Given the description of an element on the screen output the (x, y) to click on. 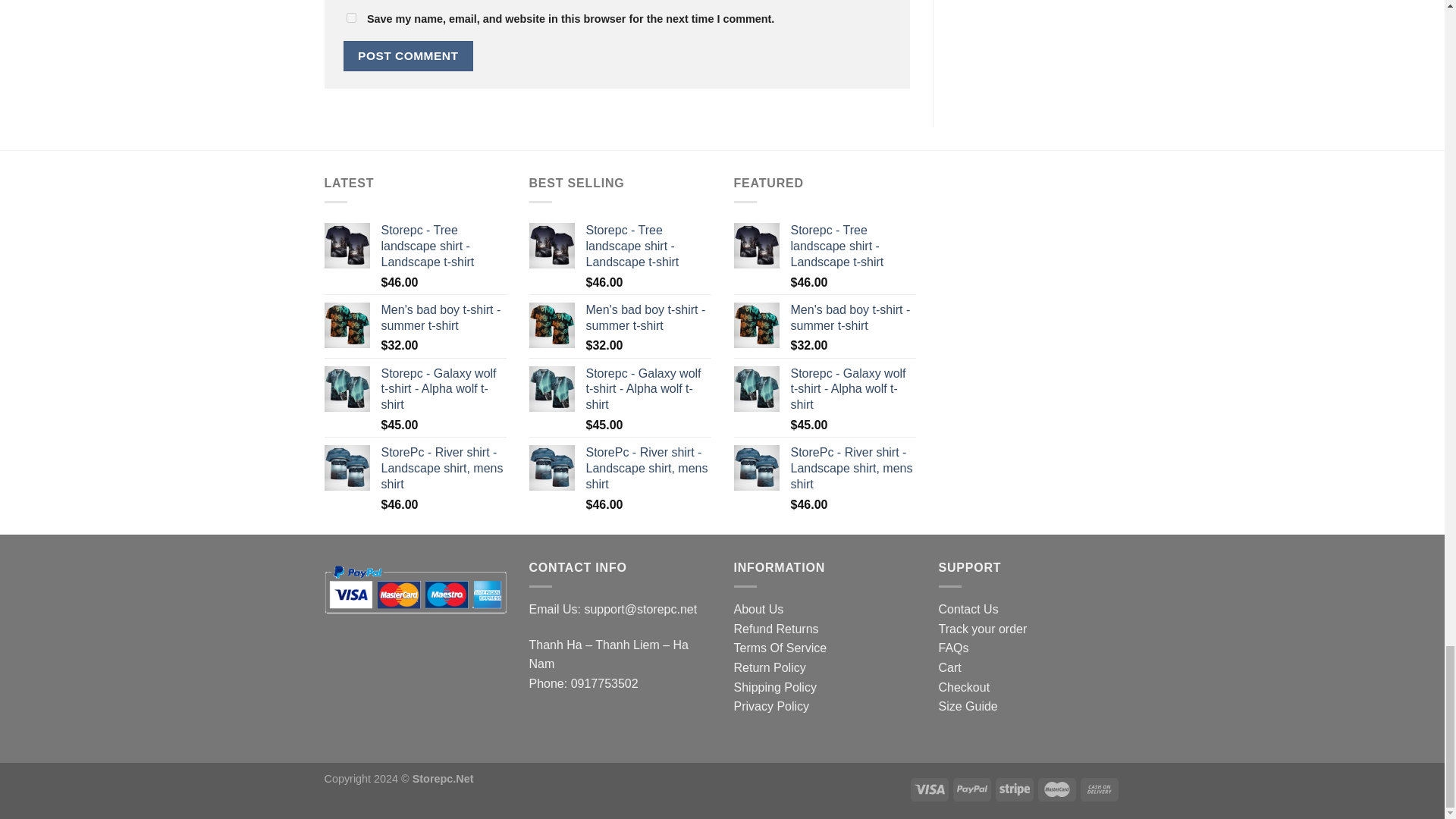
Post Comment (407, 55)
Post Comment (407, 55)
yes (350, 17)
